Given the description of an element on the screen output the (x, y) to click on. 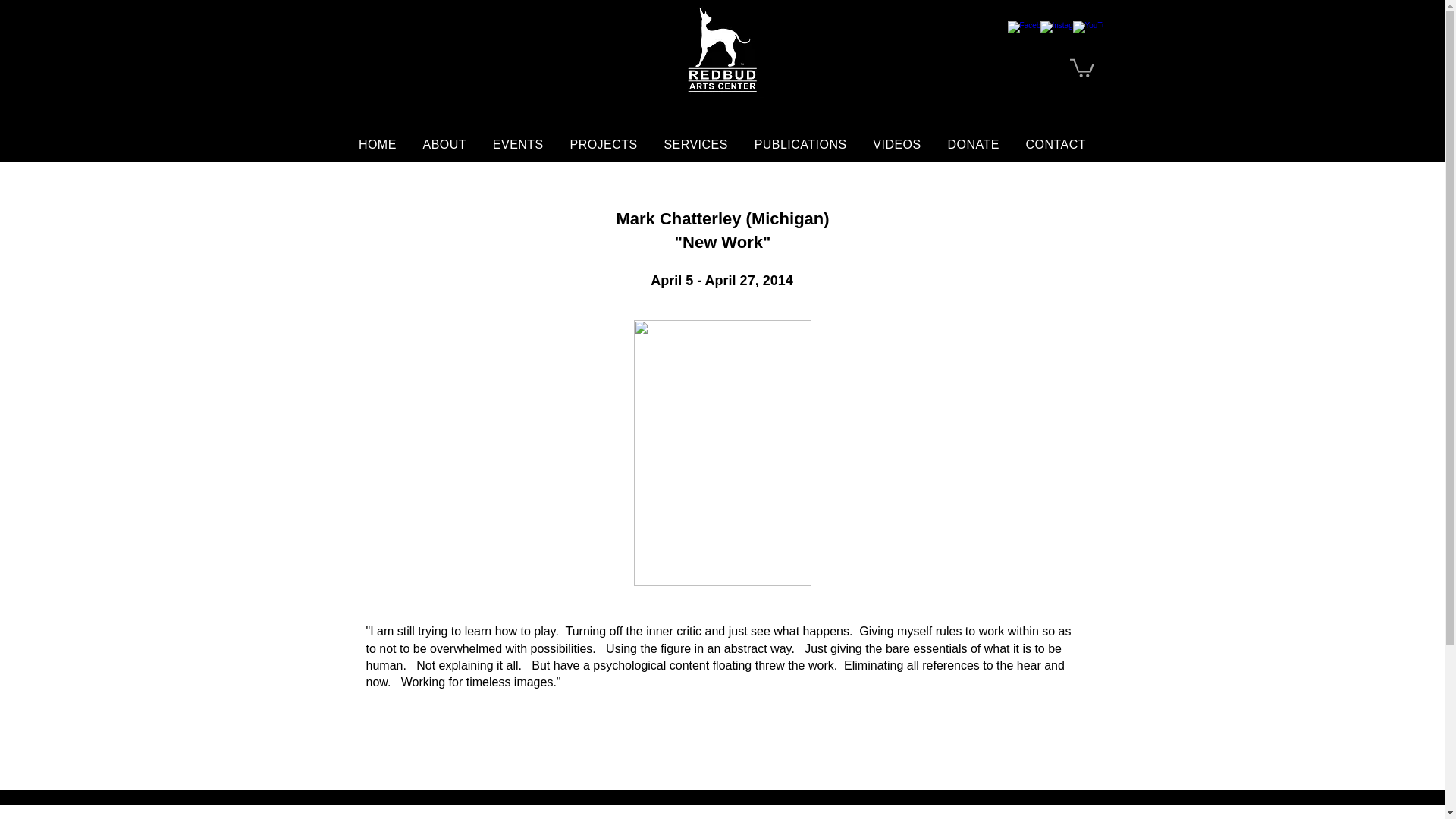
HOME (377, 144)
DONATE (973, 144)
VIDEOS (896, 144)
CONTACT (1055, 144)
